Given the description of an element on the screen output the (x, y) to click on. 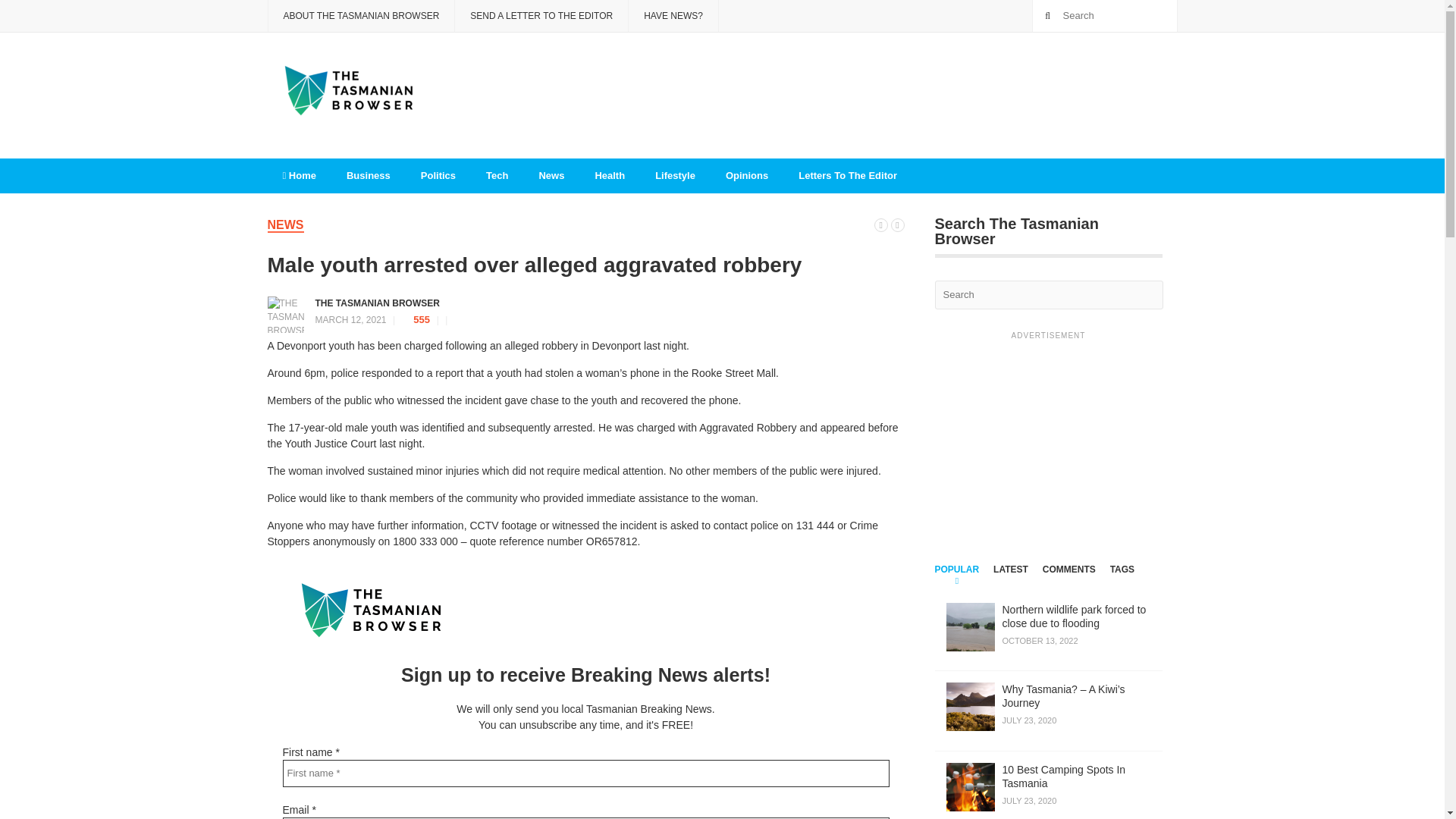
Next Post (896, 224)
SEND A LETTER TO THE EDITOR (541, 15)
First name (585, 773)
ABOUT THE TASMANIAN BROWSER (360, 15)
Latest (1047, 785)
Politics (1009, 577)
Previous Post (438, 175)
Opinions (881, 224)
Tech (746, 175)
